Given the description of an element on the screen output the (x, y) to click on. 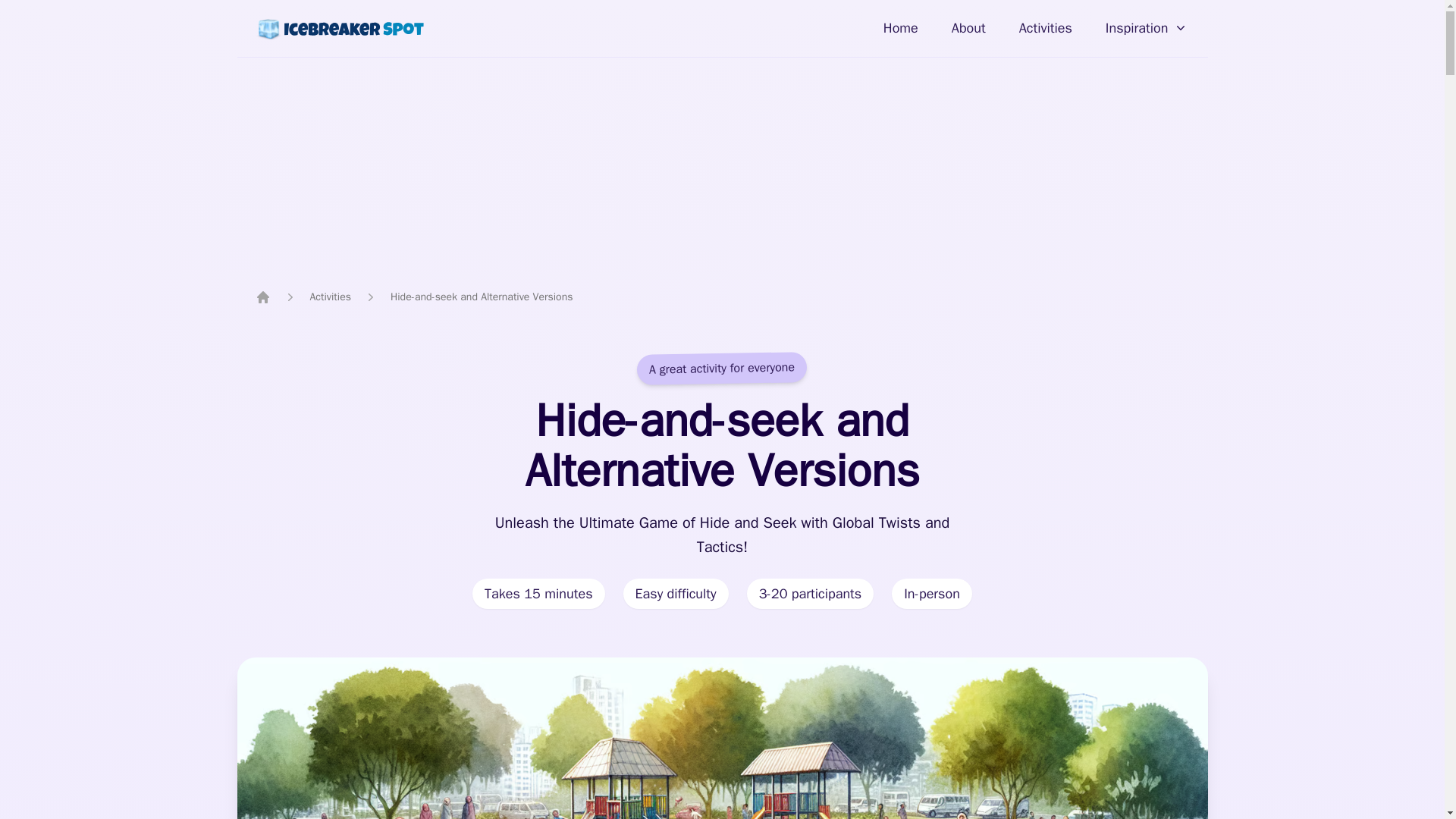
Home (901, 27)
Hide-and-seek and Alternative Versions (481, 296)
In-person (931, 593)
Takes 15 minutes (537, 593)
Activities (1045, 27)
Home (261, 296)
3-20 participants (810, 593)
Activities (329, 296)
About (968, 27)
